Given the description of an element on the screen output the (x, y) to click on. 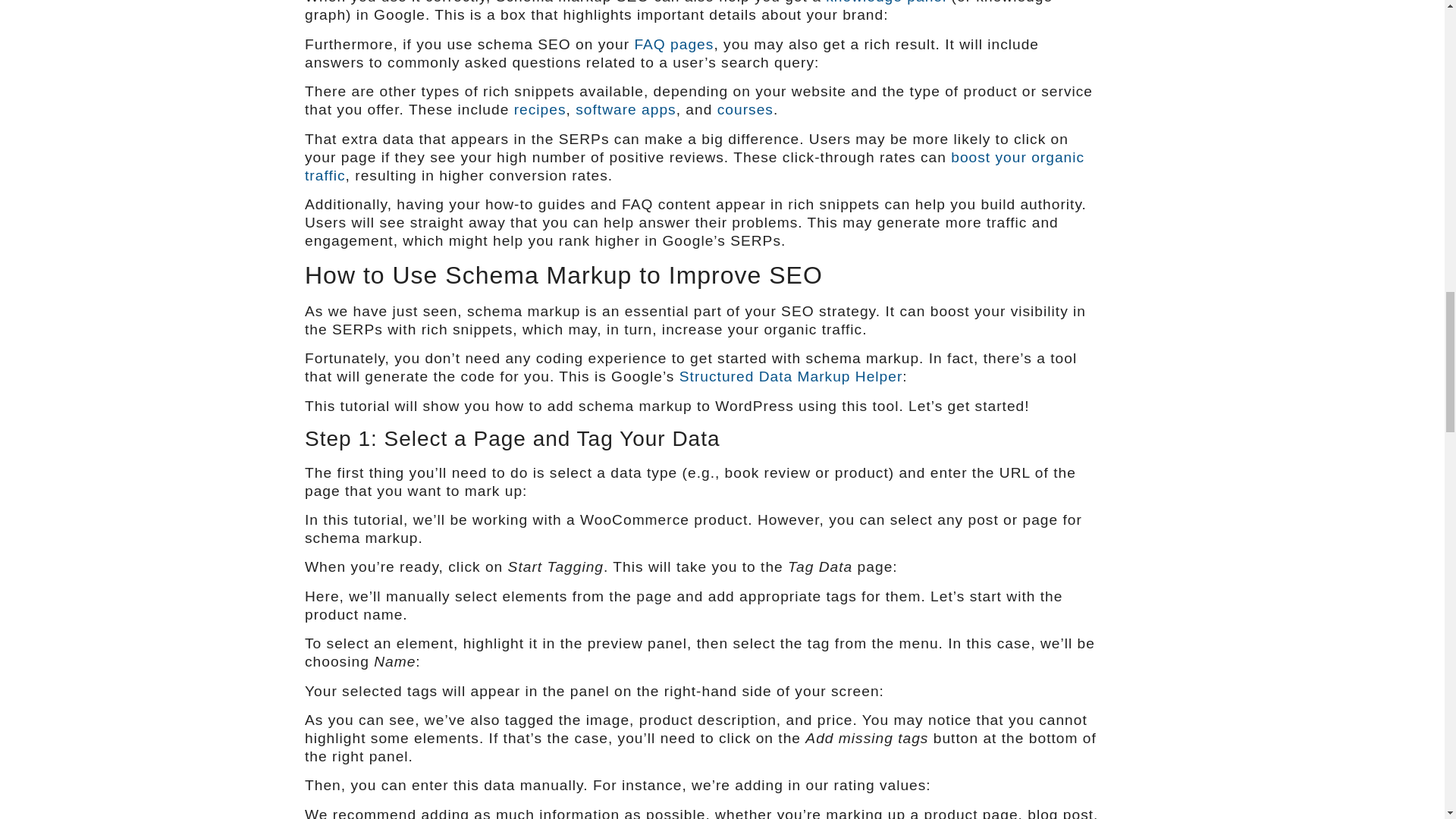
courses (745, 109)
recipes (539, 109)
knowledge panel (885, 2)
software apps (625, 109)
boost your organic traffic (694, 166)
FAQ pages (673, 44)
Structured Data Markup Helper (790, 376)
